Given the description of an element on the screen output the (x, y) to click on. 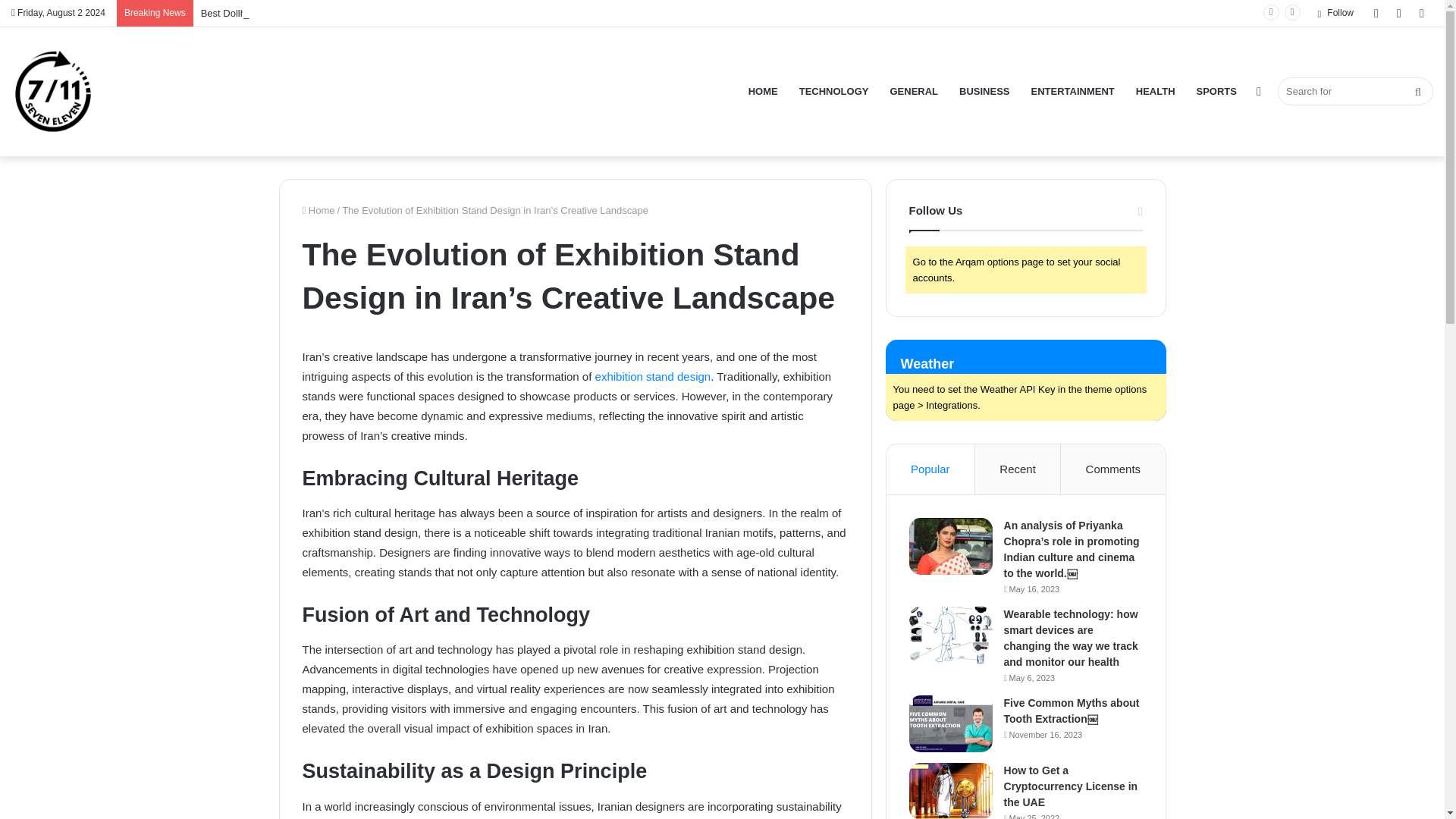
Comments (1112, 469)
Recent (1018, 469)
Search for (1355, 90)
Home (317, 210)
Best Dollhouses 2024 (248, 12)
How to Get a Cryptocurrency License in the UAE (1071, 786)
Follow (1335, 13)
exhibition stand design (653, 376)
Seven Eleven Stores Dubai (52, 91)
